Given the description of an element on the screen output the (x, y) to click on. 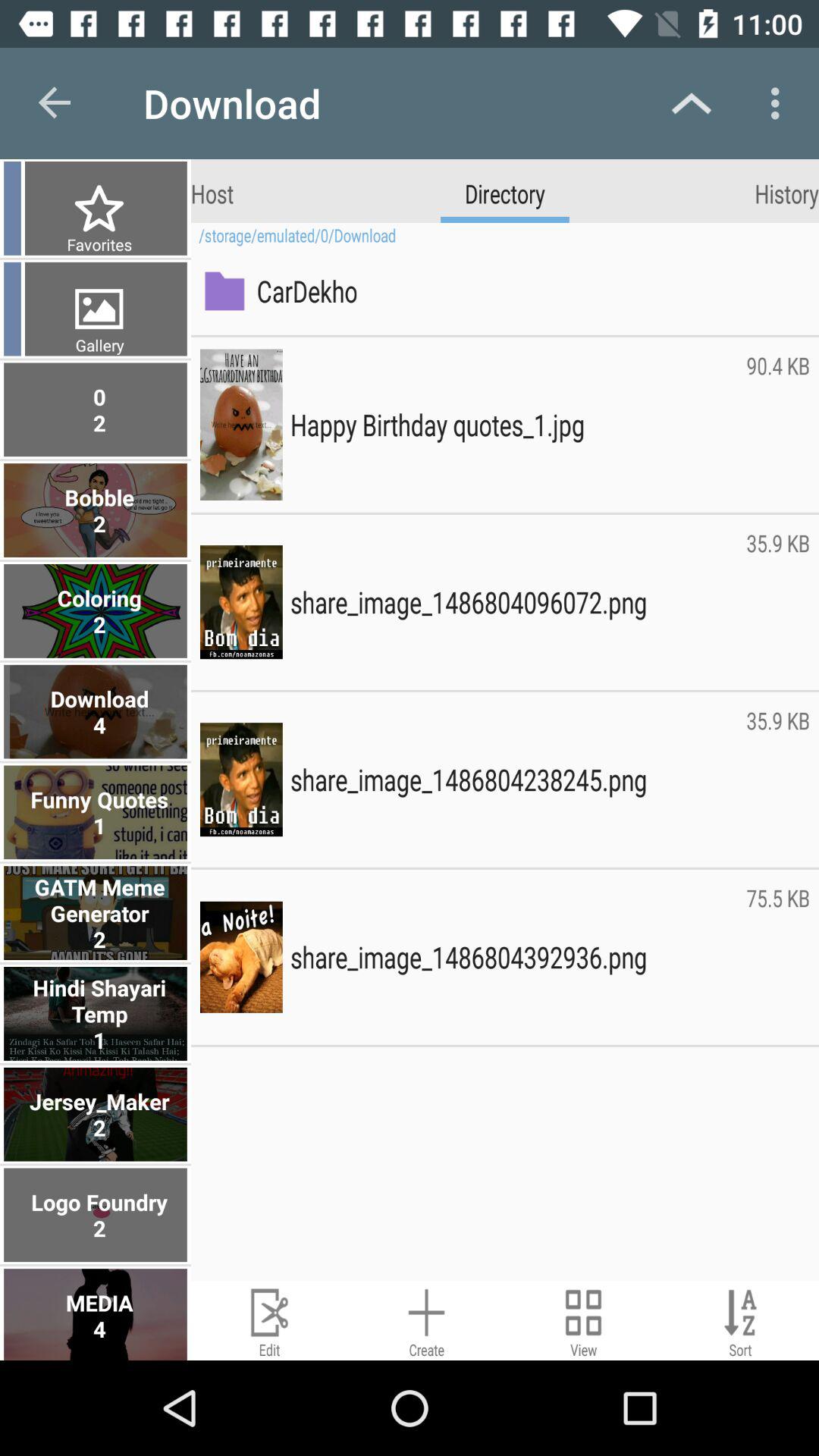
view botton (583, 1320)
